Given the description of an element on the screen output the (x, y) to click on. 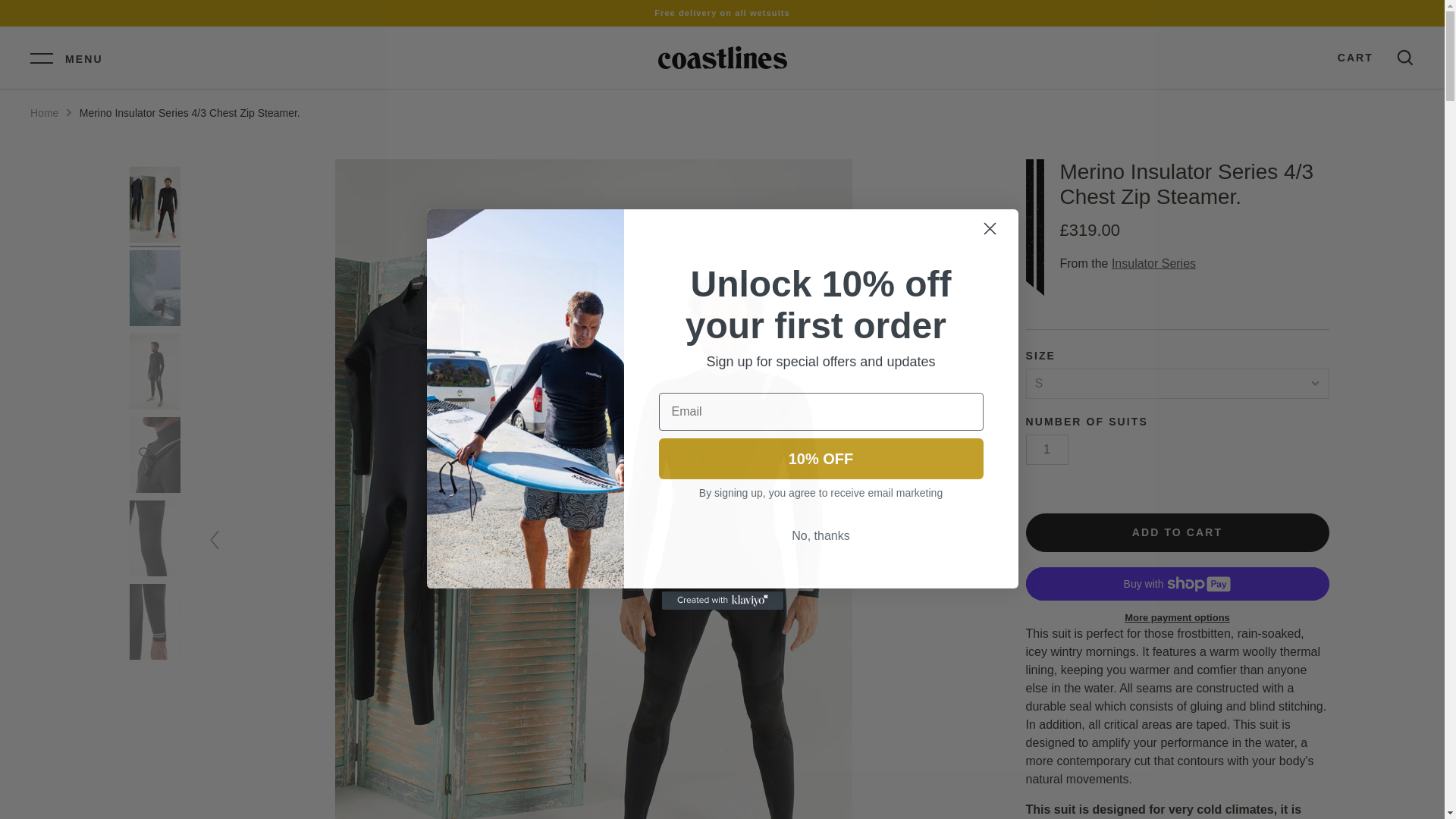
1 (1046, 449)
CART (1355, 57)
Sealed cuff on a thermal coastlines wetsuit (155, 623)
MENU (66, 57)
SEARCH (1404, 57)
SEARCH (1404, 57)
